Given the description of an element on the screen output the (x, y) to click on. 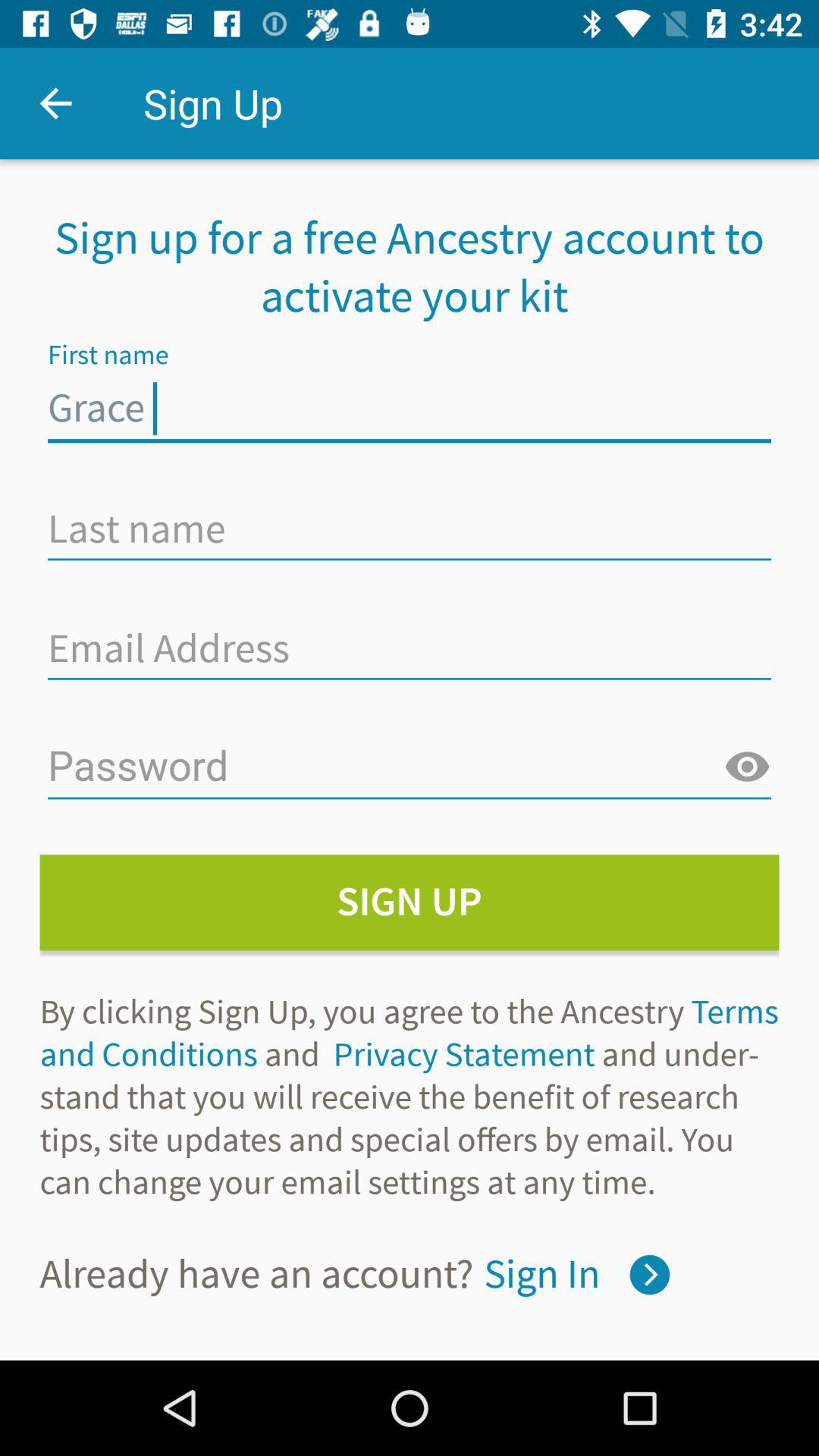
show the password option (747, 767)
